Given the description of an element on the screen output the (x, y) to click on. 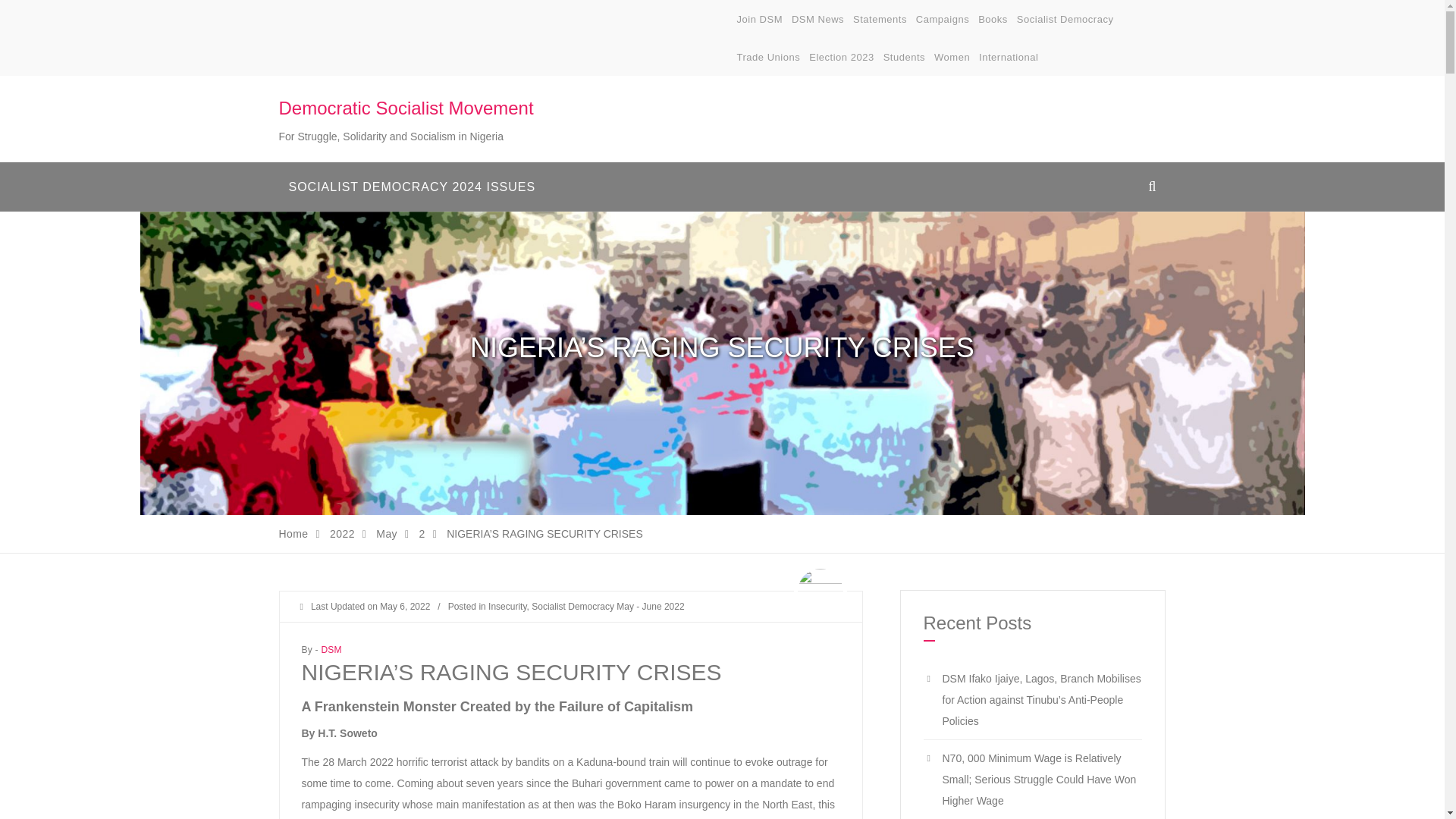
2022 (342, 533)
Election 2023 (842, 57)
International (1008, 57)
Trade Unions (768, 57)
Insecurity (506, 606)
DSM News (818, 19)
Socialist Democracy May - June 2022 (607, 606)
Democratic Socialist Movement (406, 107)
May (386, 533)
Join DSM (759, 19)
Statements (880, 19)
Students (903, 57)
DSM (330, 649)
Women (951, 57)
